Given the description of an element on the screen output the (x, y) to click on. 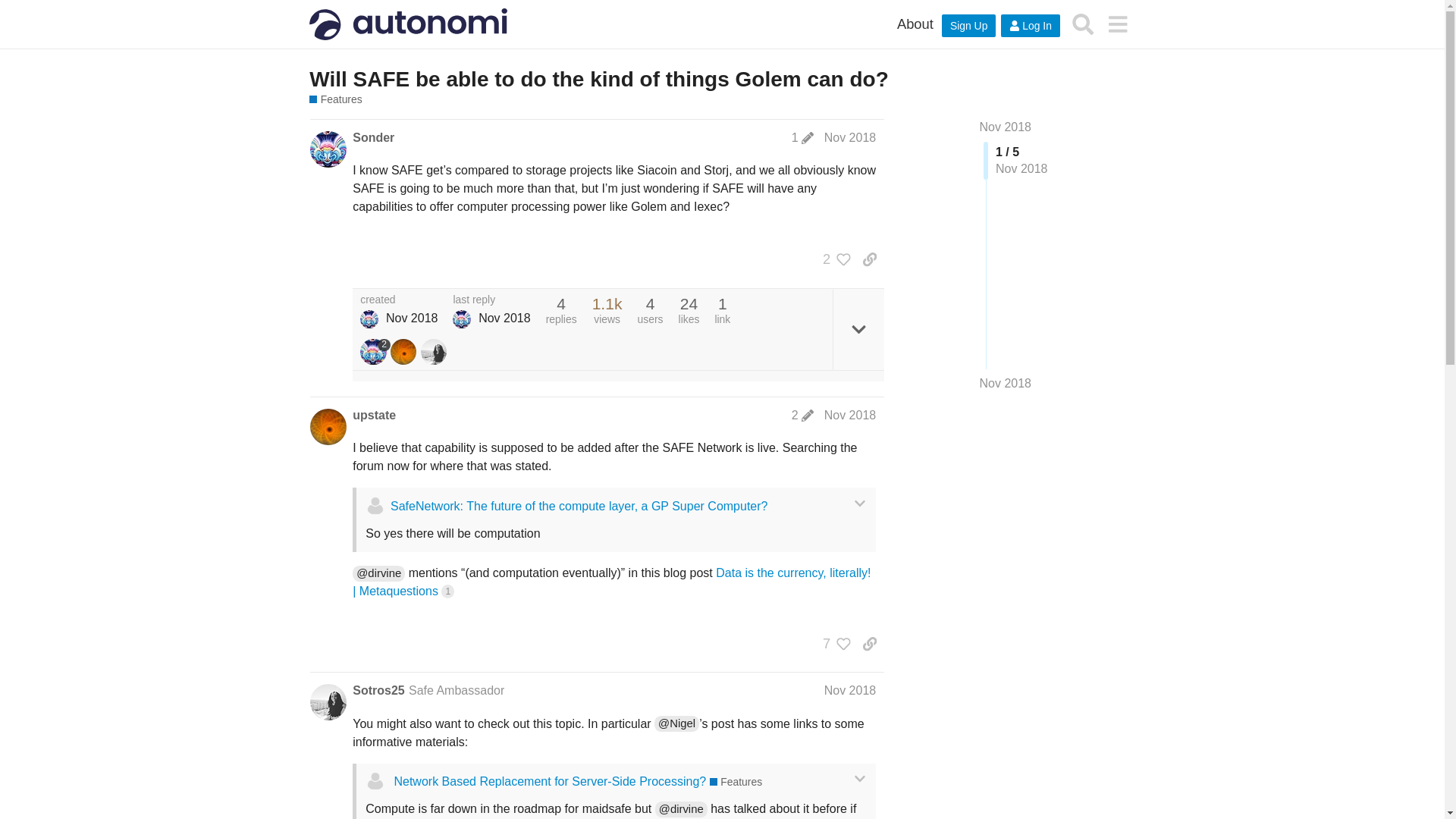
2 (374, 351)
1 (802, 137)
Search (1082, 23)
Nov 2018 (850, 414)
2 people liked this post (832, 258)
last reply (490, 299)
Will SAFE be able to do the kind of things Golem can do? (598, 78)
Sotros25 (378, 690)
Nov 2018 (850, 689)
post last edited on Nov 26, 2018 1:18 am (802, 137)
Log In (1030, 25)
menu (1117, 23)
Nov 2018 (1005, 126)
About (915, 23)
